Given the description of an element on the screen output the (x, y) to click on. 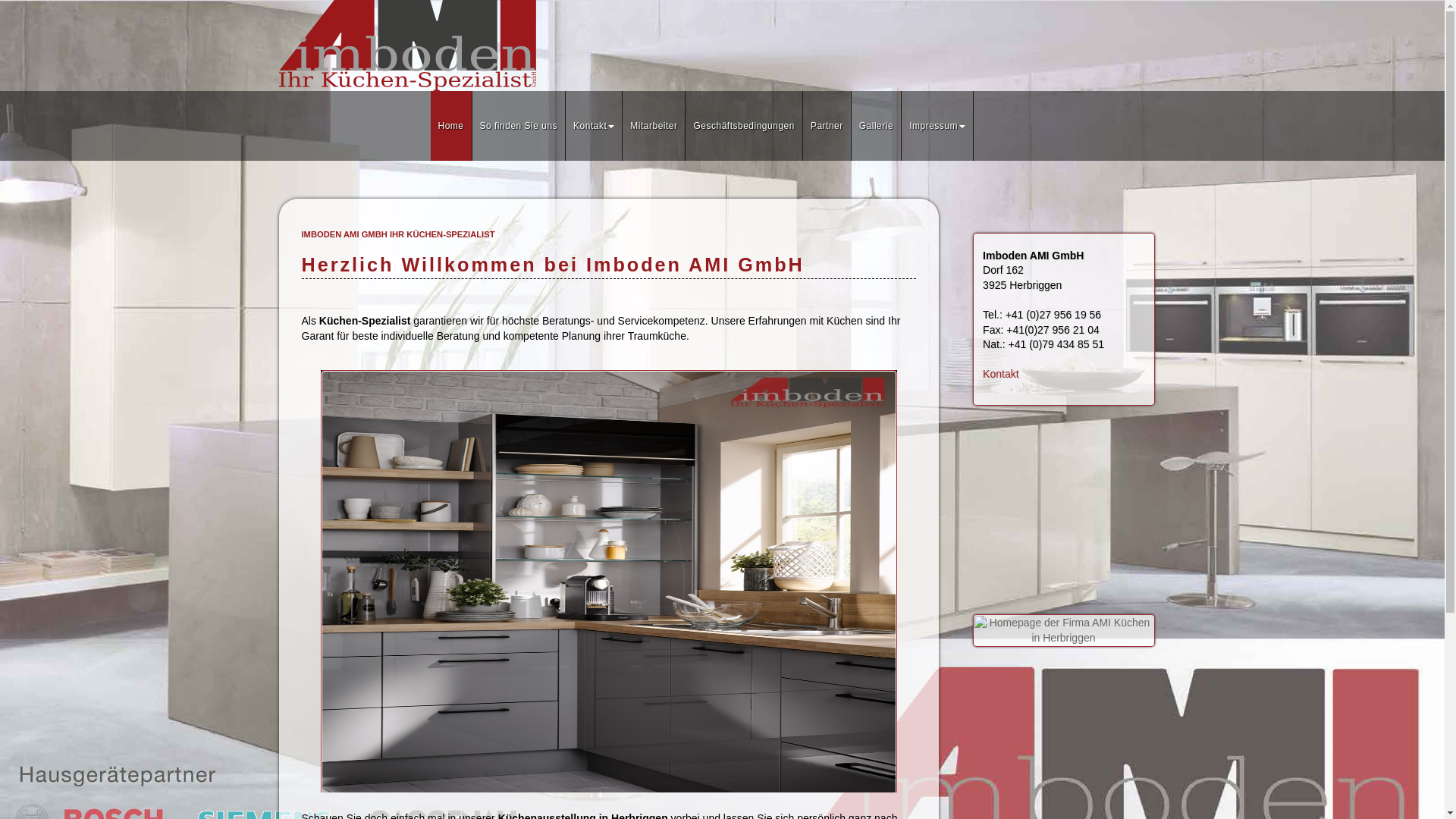
AMI-Kuechen_Laser_Brillant_Perlgrau_D3.jpg Element type: hover (608, 582)
Impressum Element type: text (937, 125)
Kontakt Element type: text (1000, 373)
Partner Element type: text (827, 125)
Kontakt Element type: text (593, 125)
So finden Sie uns Element type: text (519, 125)
Home Element type: text (451, 125)
Mitarbeiter Element type: text (653, 125)
Gallerie Element type: text (876, 125)
